Given the description of an element on the screen output the (x, y) to click on. 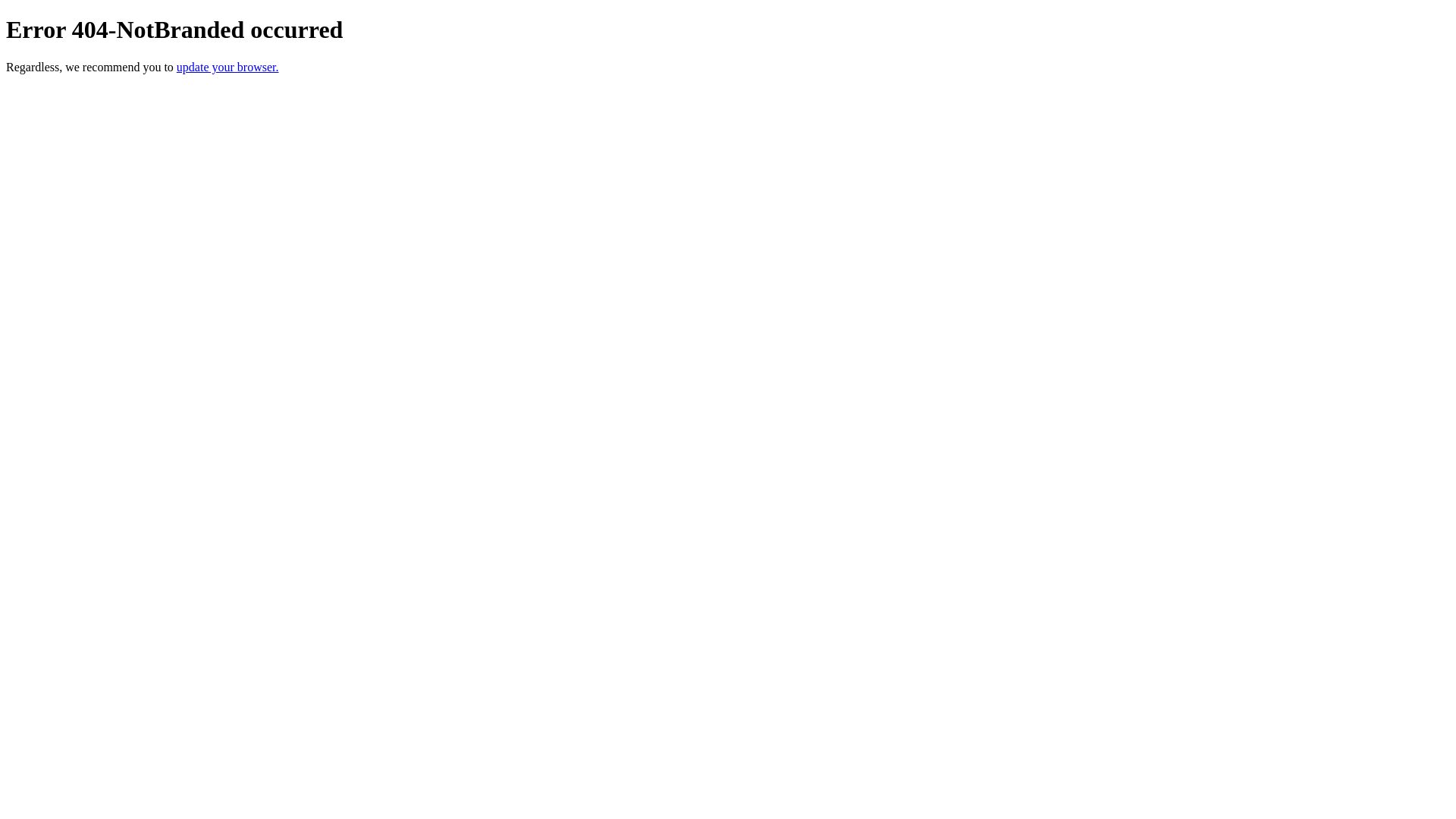
update your browser. Element type: text (227, 66)
